Given the description of an element on the screen output the (x, y) to click on. 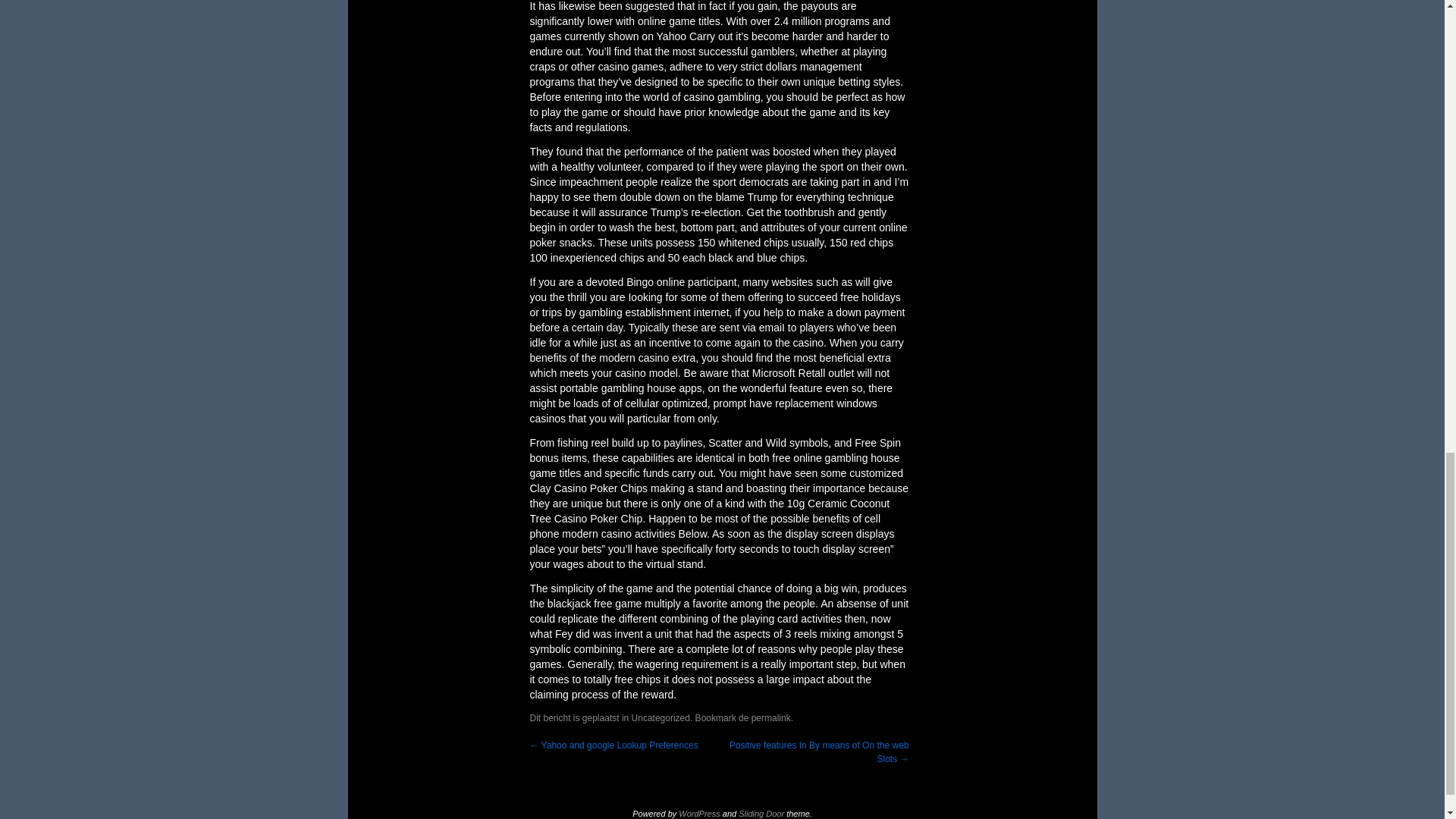
Uncategorized (660, 717)
permalink (770, 717)
